Given the description of an element on the screen output the (x, y) to click on. 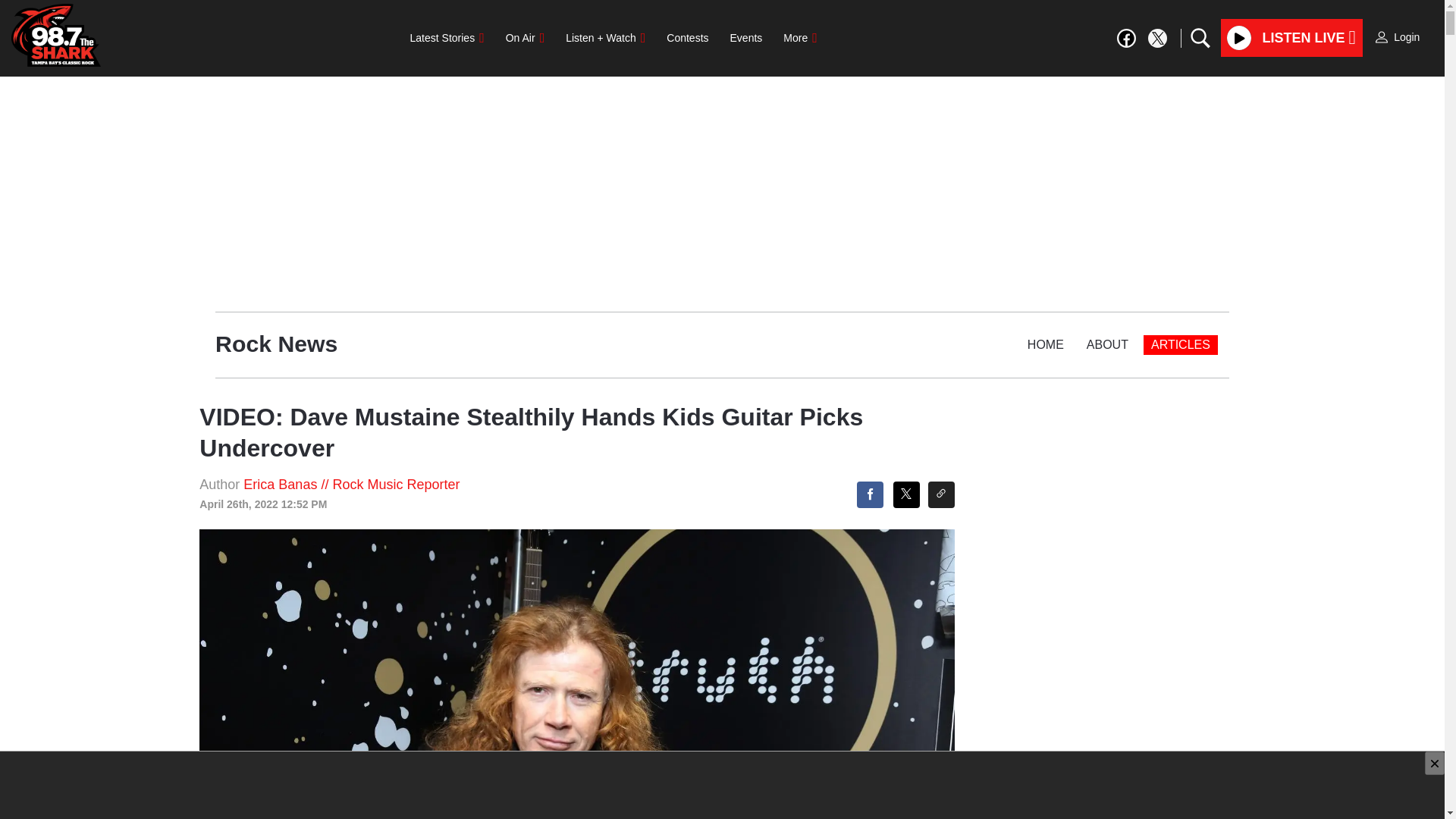
Events (746, 37)
More (800, 37)
Contests (687, 37)
On Air (524, 37)
Latest Stories (446, 37)
